Given the description of an element on the screen output the (x, y) to click on. 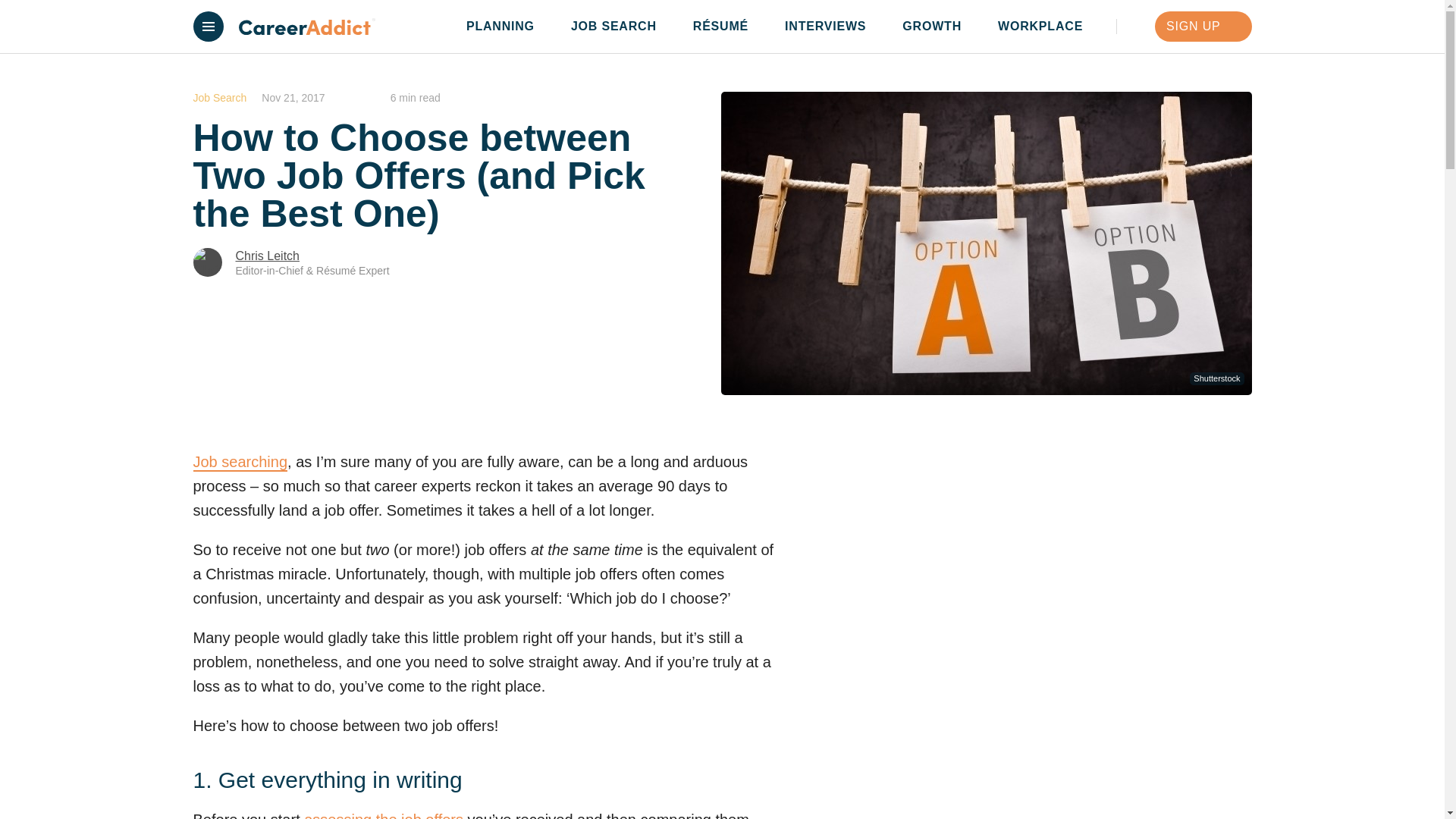
INTERVIEWS (832, 26)
GROWTH (939, 26)
JOB SEARCH (620, 26)
PLANNING (507, 26)
